Given the description of an element on the screen output the (x, y) to click on. 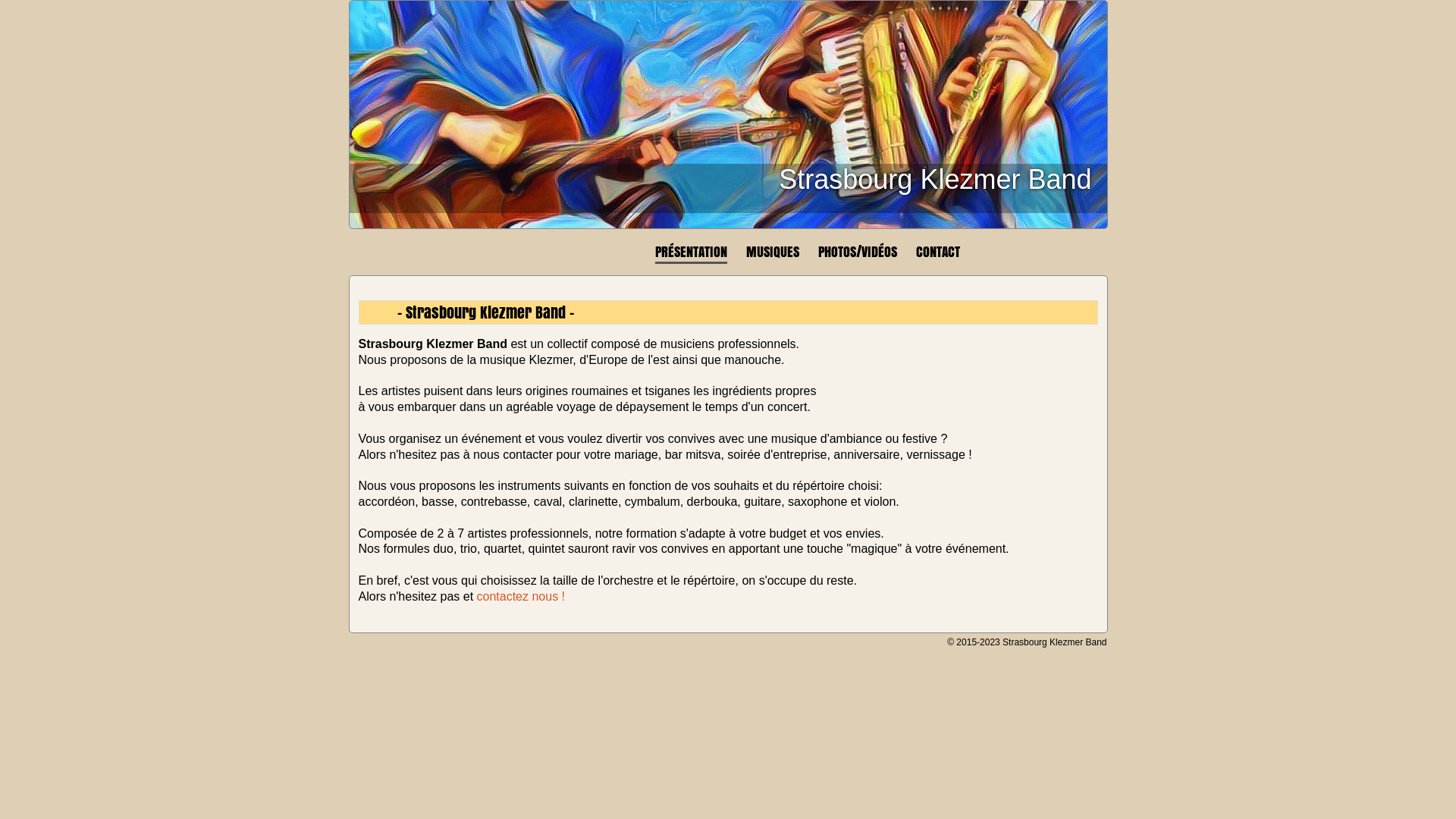
CONTACT Element type: text (938, 251)
contactez nous ! Element type: text (520, 595)
MUSIQUES Element type: text (772, 251)
